Given the description of an element on the screen output the (x, y) to click on. 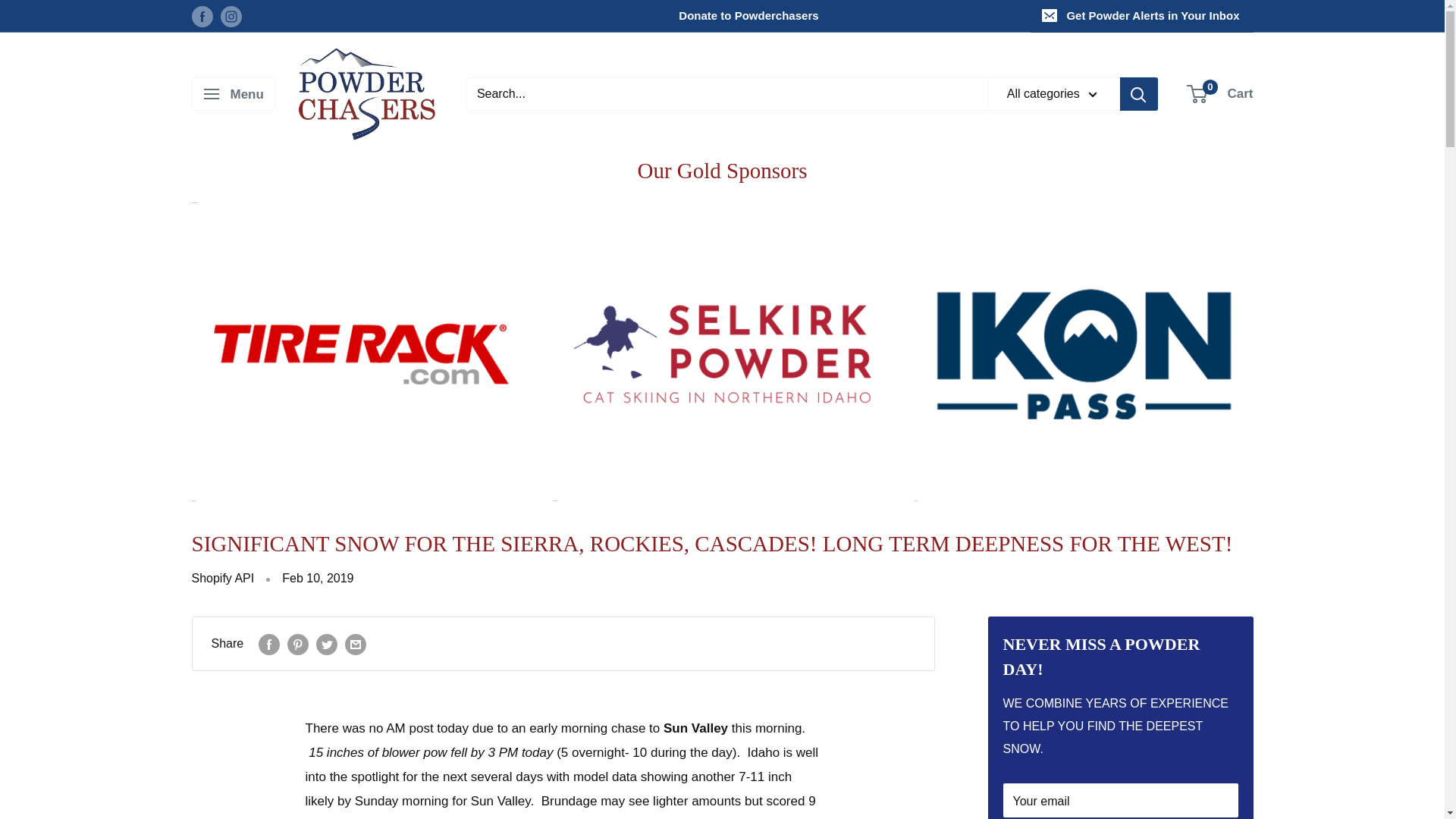
Powderchasers (366, 93)
Menu (232, 93)
Donate to Powderchasers (1220, 93)
Selkirk Powder (635, 15)
